Given the description of an element on the screen output the (x, y) to click on. 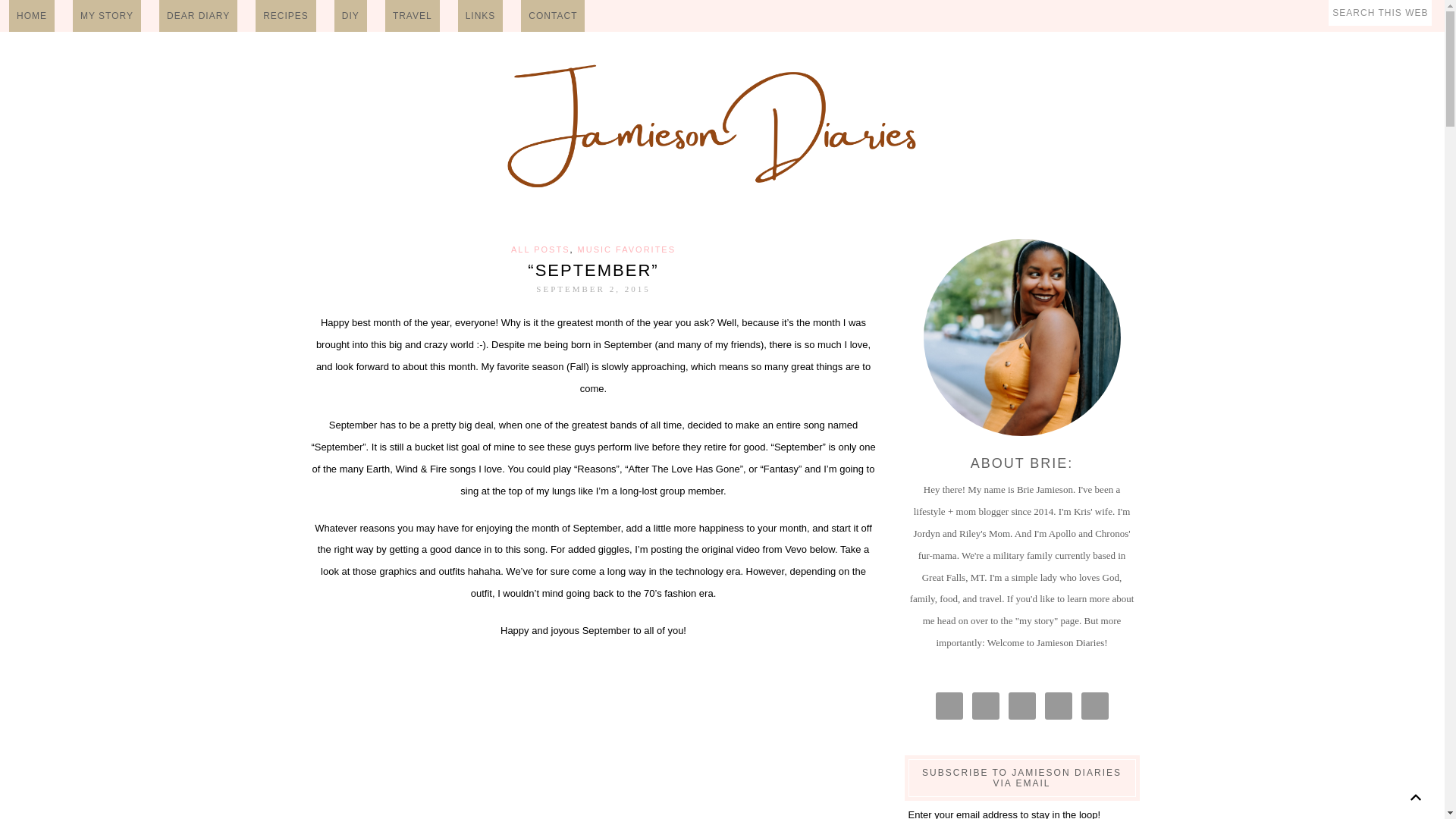
ALL POSTS (540, 248)
TRAVEL (412, 15)
HOME (31, 15)
MUSIC FAVORITES (626, 248)
DIY (350, 15)
DEAR DIARY (197, 15)
MY STORY (106, 15)
LINKS (480, 15)
CONTACT (553, 15)
RECIPES (285, 15)
